Given the description of an element on the screen output the (x, y) to click on. 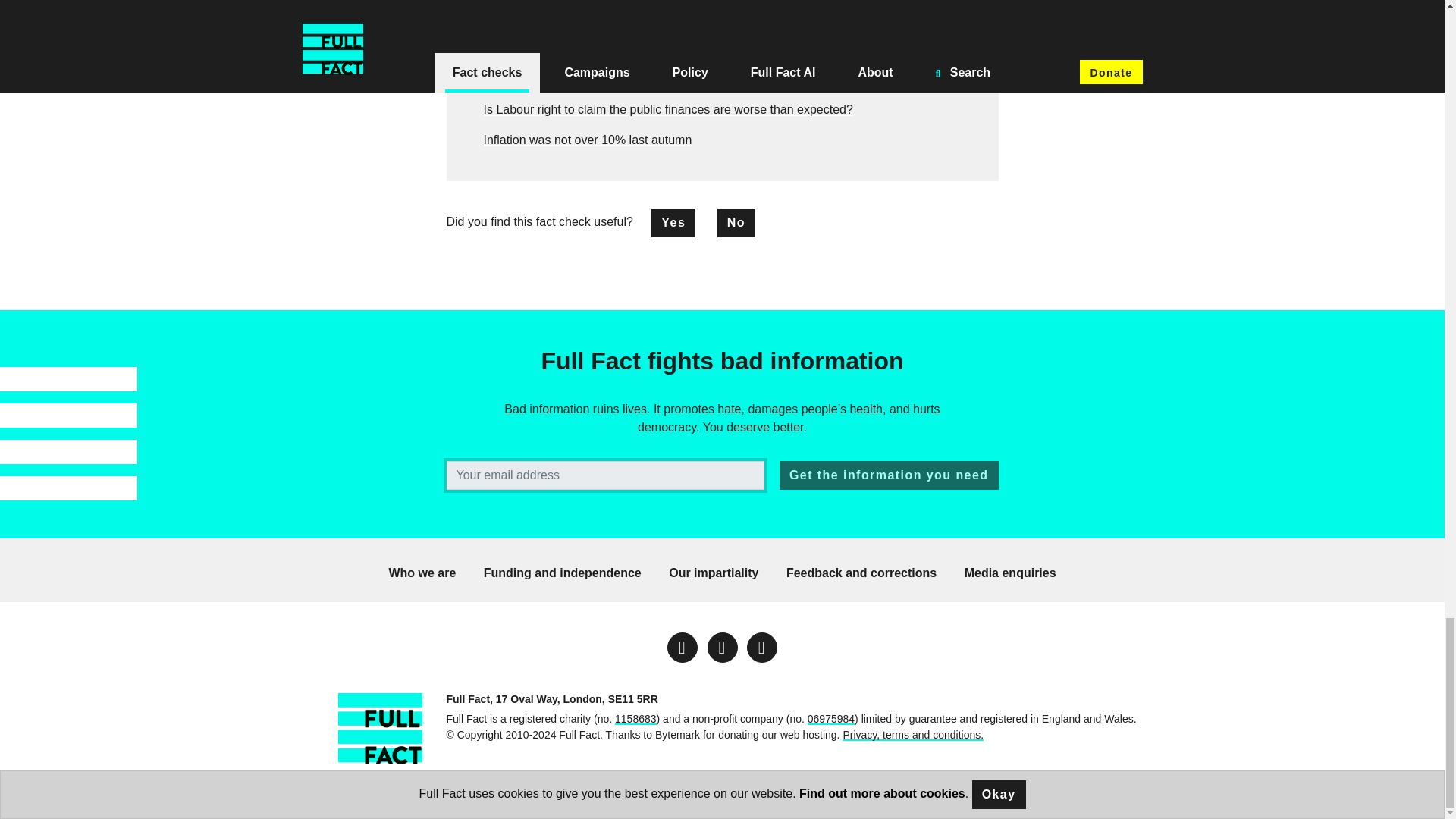
10 claims from the 7-way leaders' debate (593, 18)
Link opens in a new window (681, 647)
Link opens in a new window (761, 647)
Link opens in a new window (721, 647)
Have apprenticeships doubled under the Coalition? (620, 48)
